Given the description of an element on the screen output the (x, y) to click on. 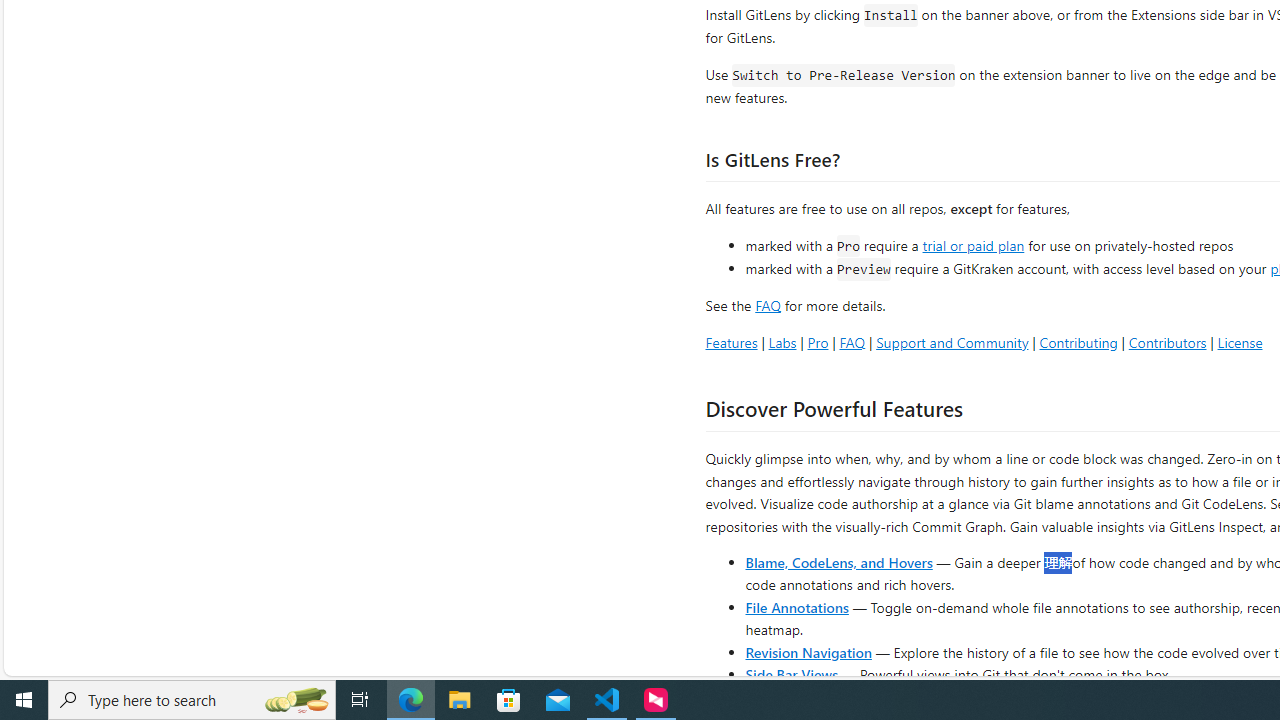
License (1240, 341)
Contributing (1078, 341)
trial or paid plan (973, 244)
Labs (782, 341)
Blame, CodeLens, and Hovers (838, 561)
Support and Community (952, 341)
Revision Navigation (807, 651)
Side Bar Views (791, 673)
Pro (817, 341)
Features (731, 341)
File Annotations (796, 606)
FAQ (852, 341)
Contributors (1167, 341)
